Given the description of an element on the screen output the (x, y) to click on. 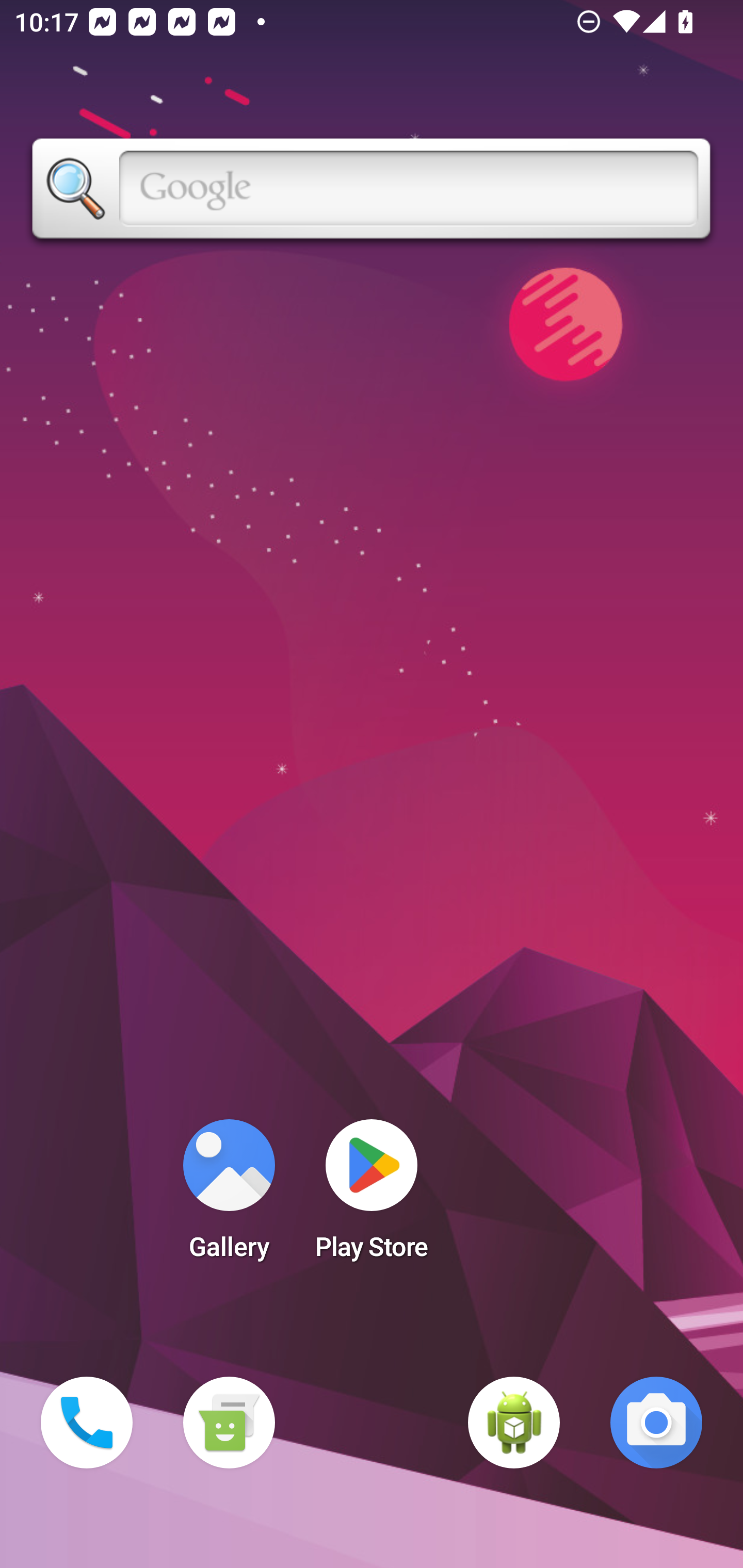
Gallery (228, 1195)
Play Store (371, 1195)
Phone (86, 1422)
Messaging (228, 1422)
WebView Browser Tester (513, 1422)
Camera (656, 1422)
